Given the description of an element on the screen output the (x, y) to click on. 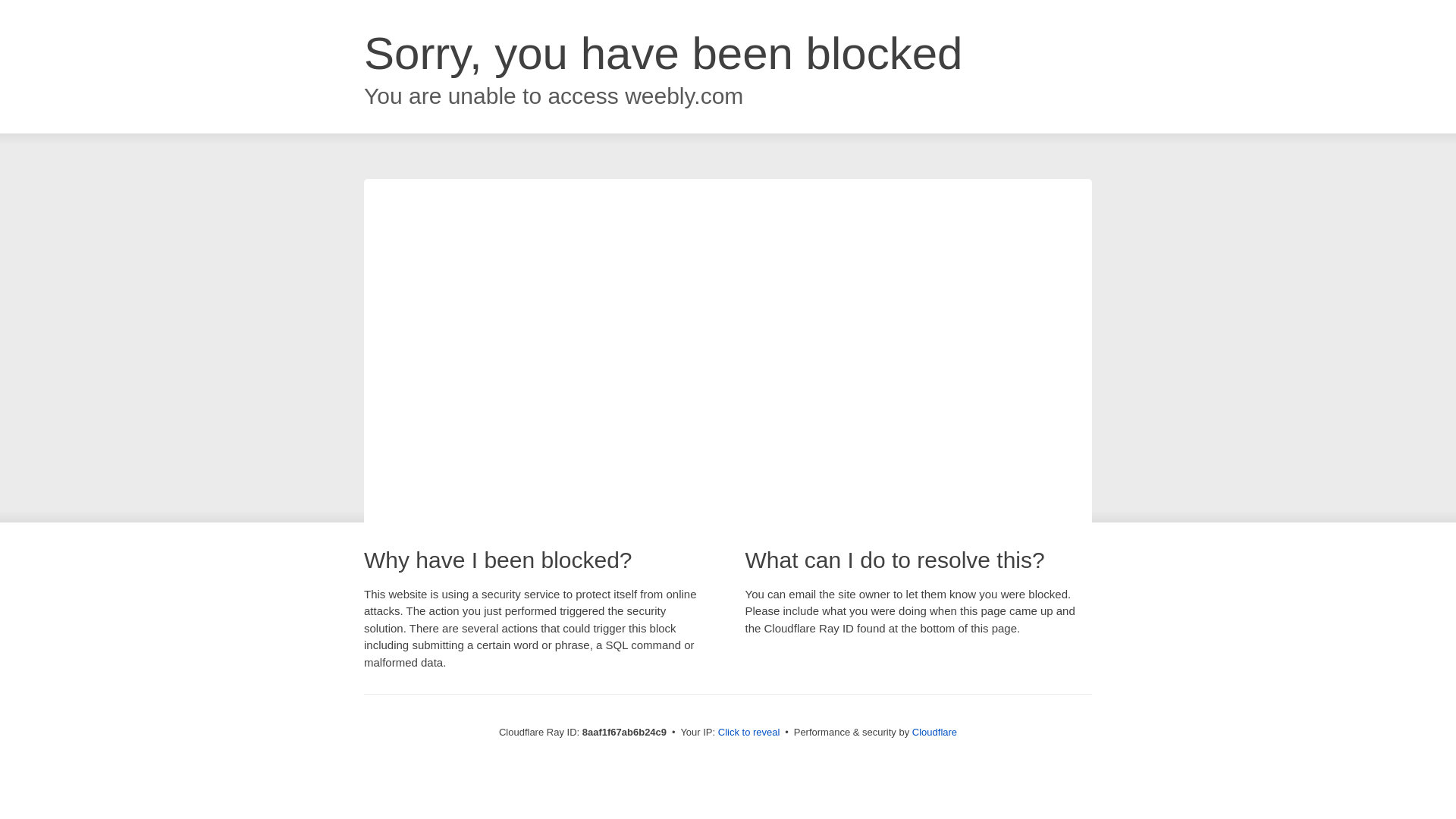
Cloudflare (934, 731)
Click to reveal (748, 732)
